Given the description of an element on the screen output the (x, y) to click on. 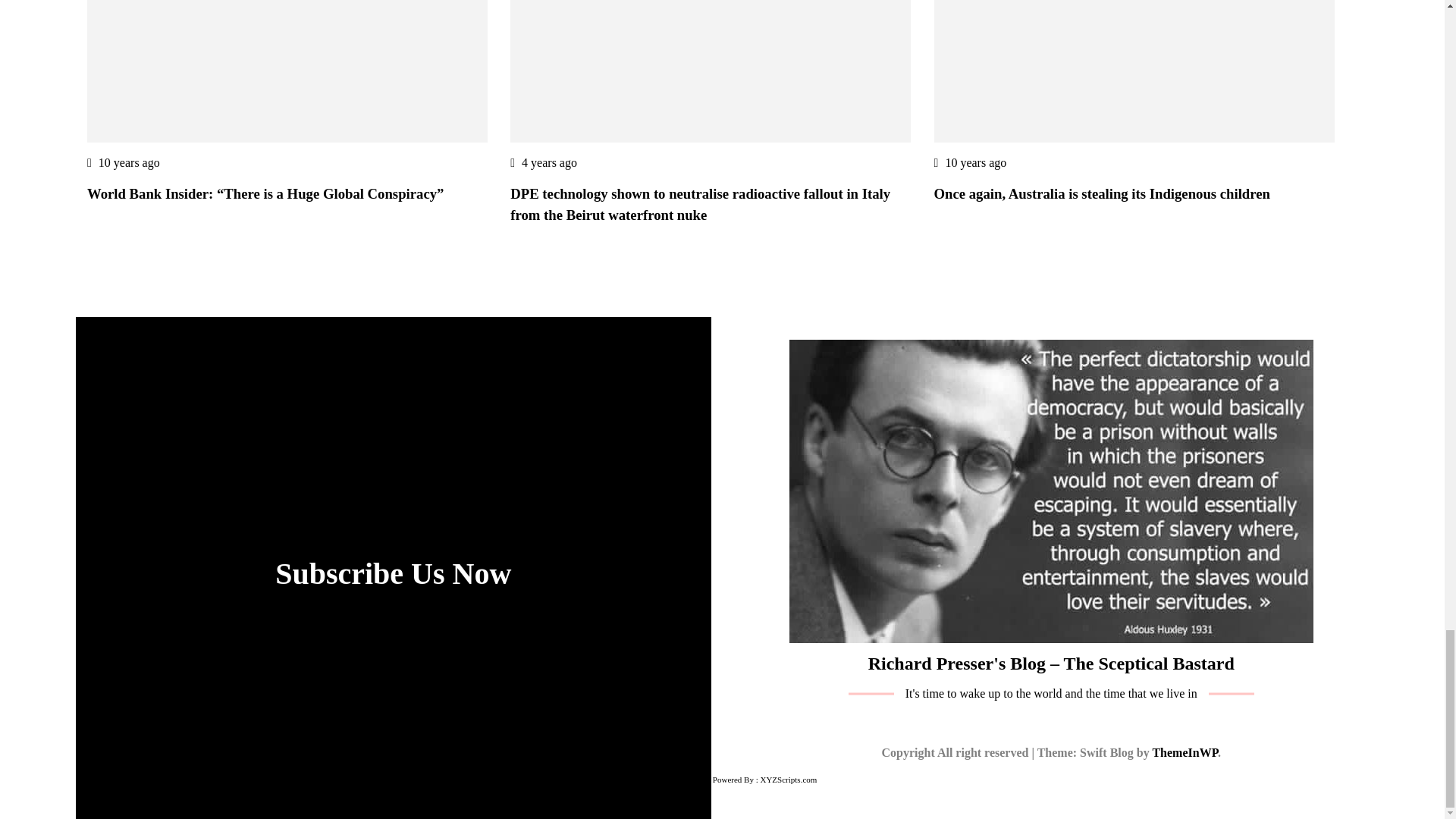
WP2Social Auto Publish (668, 779)
